Given the description of an element on the screen output the (x, y) to click on. 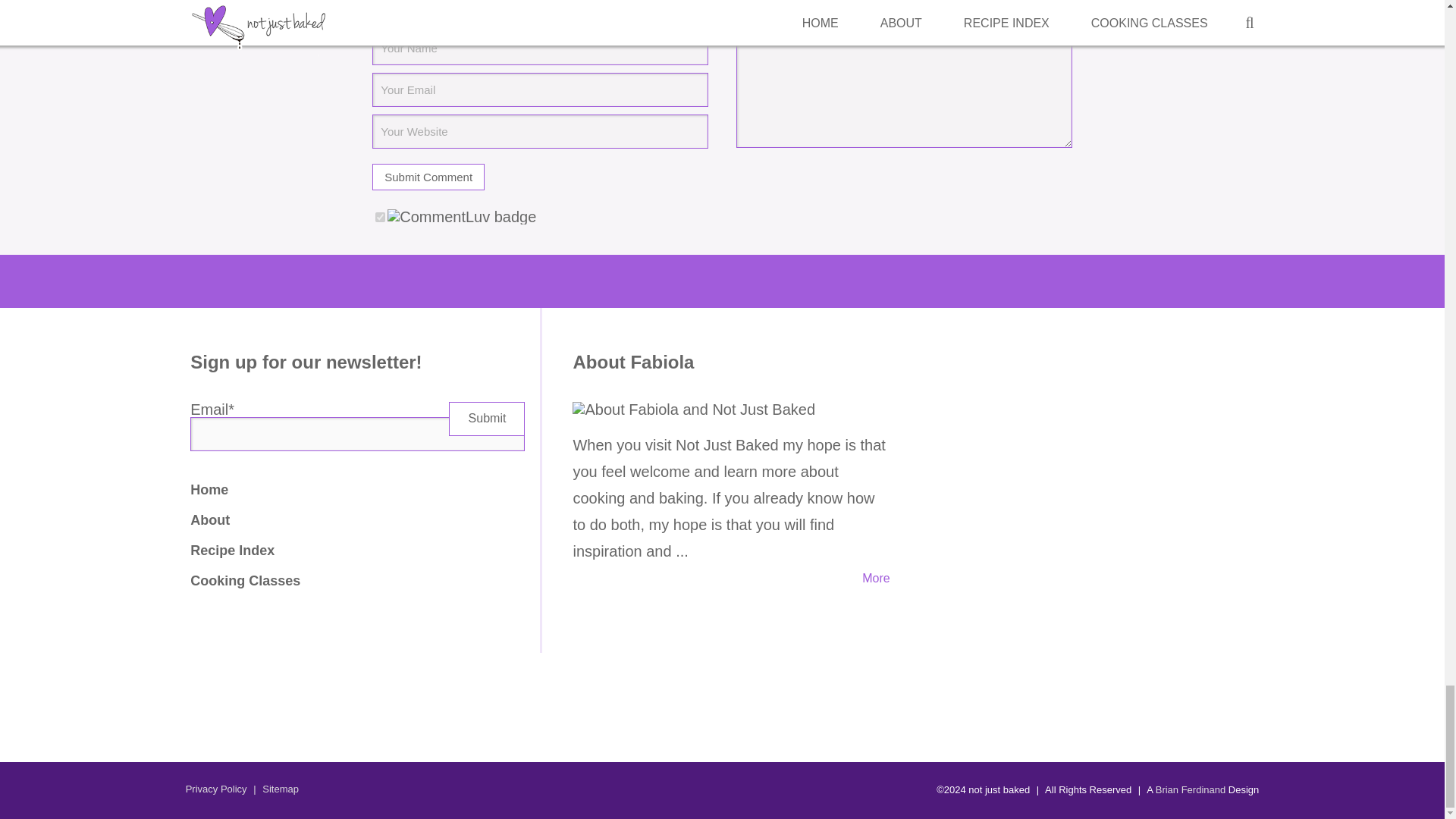
on (380, 216)
Submit Comment (428, 176)
Submit Comment (428, 176)
Web Design and Web Development by Brian Ferdinand Designs (1190, 789)
Submit (486, 418)
